Given the description of an element on the screen output the (x, y) to click on. 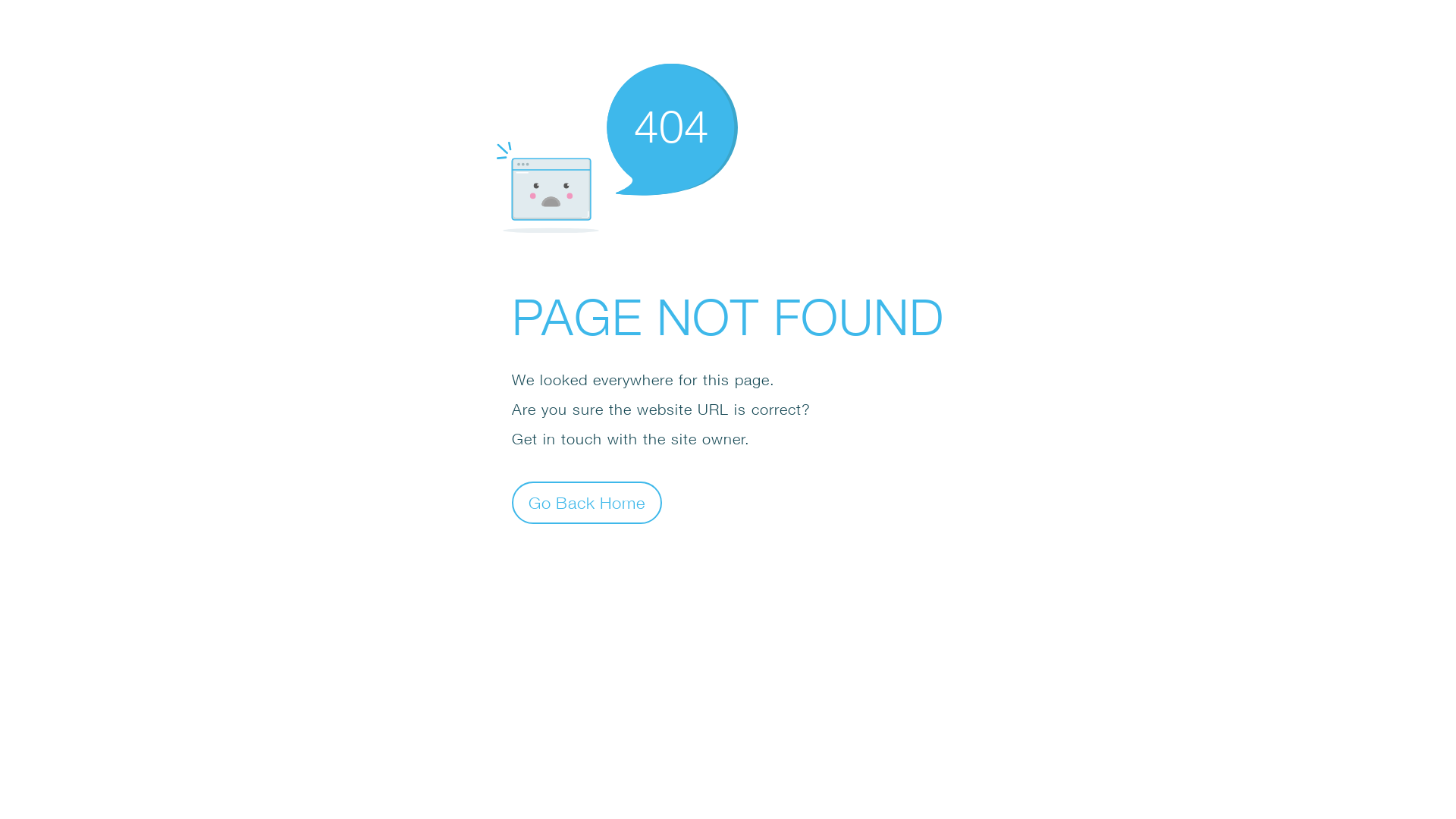
Go Back Home Element type: text (586, 502)
